Given the description of an element on the screen output the (x, y) to click on. 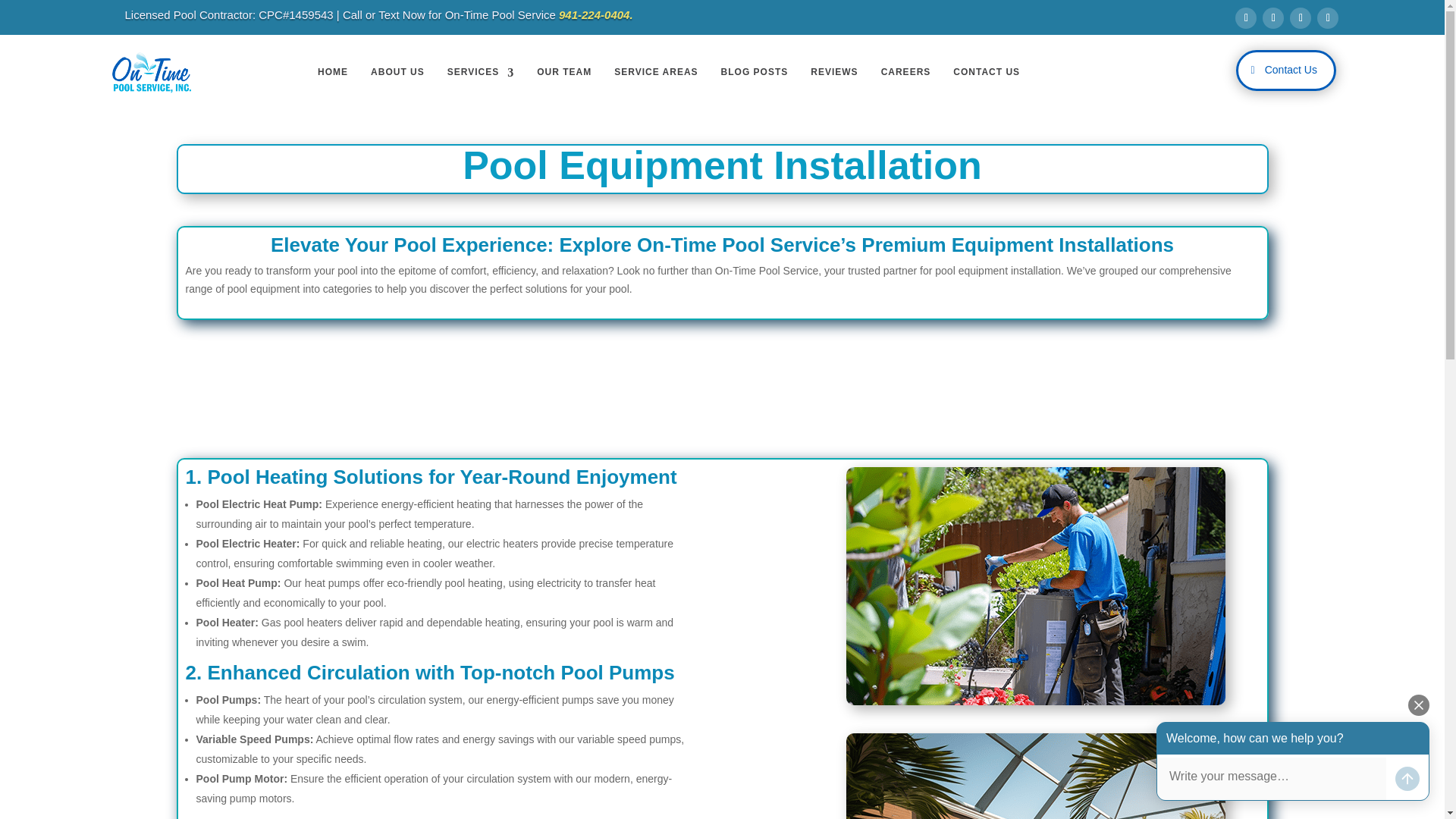
Follow on Pinterest (1327, 17)
Follow on Instagram (1300, 17)
SERVICES (477, 72)
New slider 5 (1035, 776)
CONTACT US (983, 72)
Equipment repairs copy500 (1035, 585)
OUR TEAM (561, 72)
ABOUT US (395, 72)
SERVICE AREAS (652, 72)
CAREERS (903, 72)
